Given the description of an element on the screen output the (x, y) to click on. 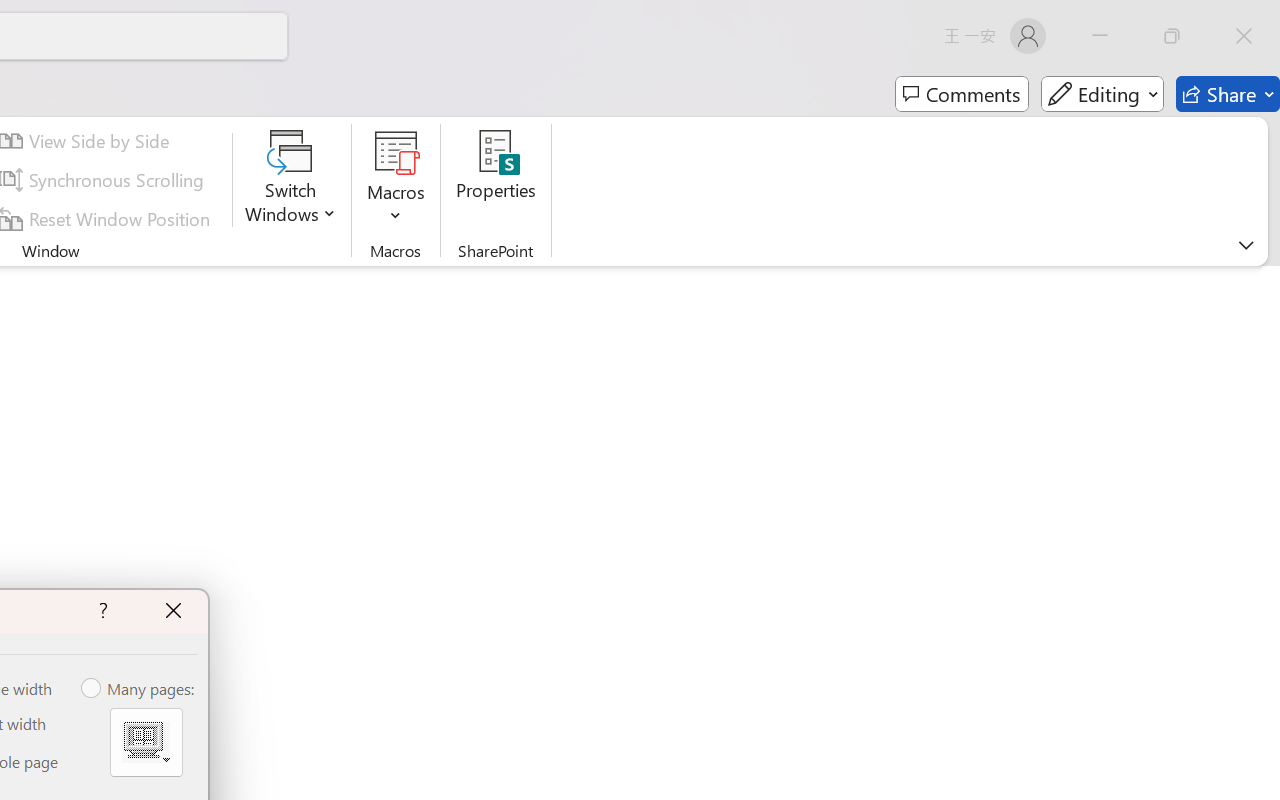
Multiple Pages (146, 742)
Macros (395, 179)
More Options (395, 208)
Many pages: (139, 689)
Close (1244, 36)
Comments (961, 94)
Properties (496, 179)
Ribbon Display Options (1246, 245)
Share (1228, 94)
Minimize (1099, 36)
MSO Generic Control Container (146, 742)
Restore Down (1172, 36)
